Given the description of an element on the screen output the (x, y) to click on. 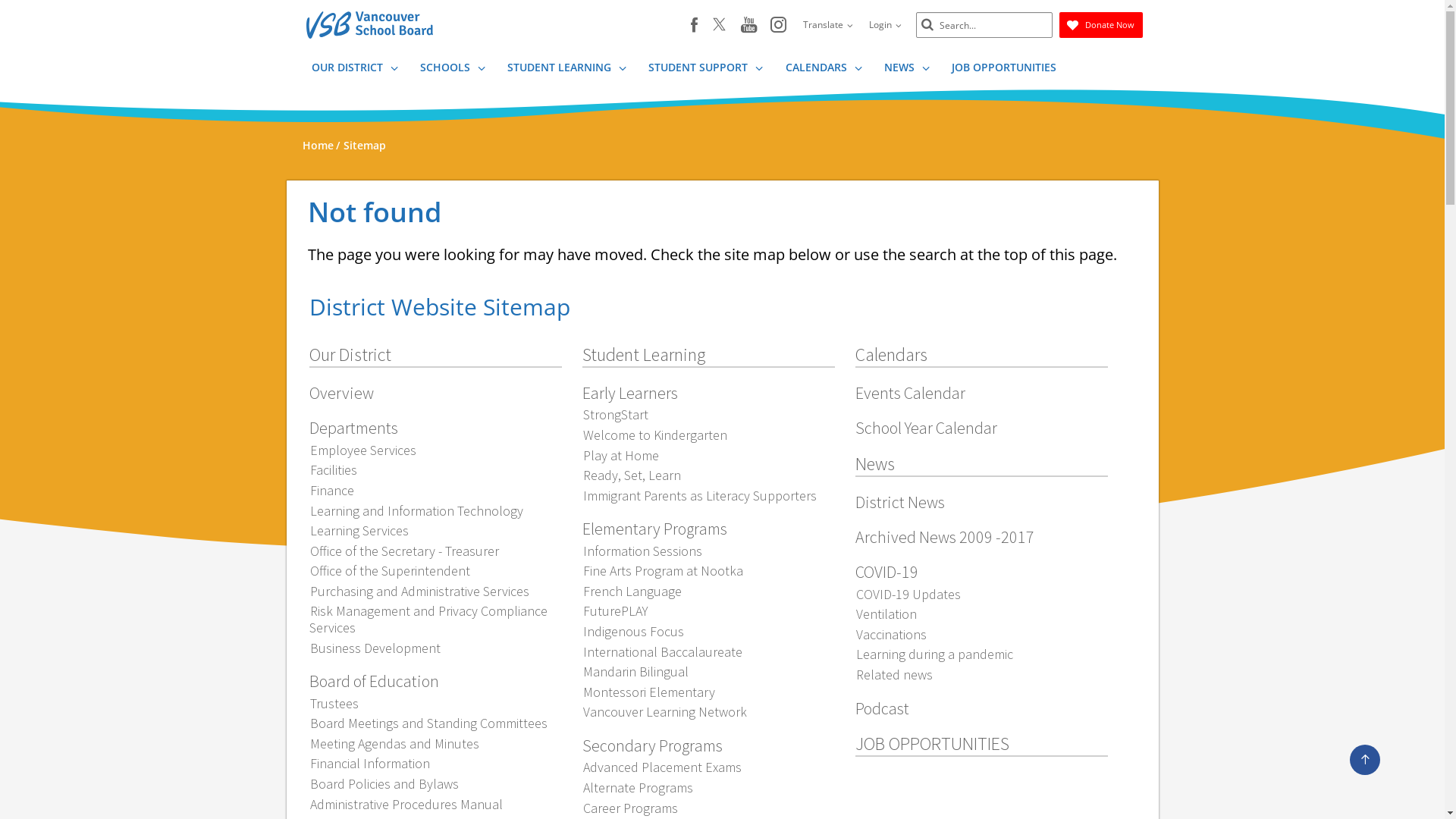
JOB OPPORTUNITIES Element type: text (932, 743)
Trustees Element type: text (333, 703)
Board Policies and Bylaws Element type: text (383, 783)
Vancouver Learning Network Element type: text (664, 711)
Business Development Element type: text (374, 647)
COVID-19 Updates Element type: text (907, 593)
Go to top Element type: text (1364, 759)
Fine Arts Program at Nootka Element type: text (662, 570)
District News Element type: text (899, 501)
Board Meetings and Standing Committees Element type: text (428, 722)
Meeting Agendas and Minutes Element type: text (394, 743)
StrongStart Element type: text (615, 414)
Montessori Elementary Element type: text (648, 691)
facebook Element type: text (693, 24)
Advanced Placement Exams Element type: text (661, 766)
Vaccinations Element type: text (890, 634)
Events Calendar Element type: text (910, 392)
Overview Element type: text (341, 392)
Financial Information Element type: text (369, 762)
Welcome to Kindergarten Element type: text (654, 434)
Finance Element type: text (331, 489)
Ready, Set, Learn Element type: text (631, 474)
Risk Management and Privacy Compliance Services Element type: text (428, 619)
Alternate Programs Element type: text (637, 787)
Administrative Procedures Manual Element type: text (405, 803)
Learning and Information Technology Element type: text (416, 510)
Student Learning Element type: text (643, 354)
OUR DISTRICT Element type: text (353, 69)
International Baccalaureate Element type: text (662, 651)
Learning Services Element type: text (358, 530)
Early Learners Element type: text (629, 392)
SCHOOLS Element type: text (451, 69)
Our District Element type: text (350, 354)
Donate Now Element type: text (1100, 24)
Translate Element type: text (827, 24)
JOB OPPORTUNITIES Element type: text (1003, 69)
instagram Element type: text (778, 25)
Employee Services Element type: text (362, 449)
Ventilation Element type: text (885, 613)
Office of the Superintendent Element type: text (389, 570)
Podcast Element type: text (882, 707)
Indigenous Focus Element type: text (633, 631)
News Element type: text (874, 463)
COVID-19 Element type: text (886, 571)
Submit Element type: text (926, 24)
Facilities Element type: text (333, 469)
Career Programs Element type: text (629, 807)
Related news Element type: text (893, 674)
NEWS Element type: text (905, 69)
Secondary Programs Element type: text (652, 745)
Office of the Secretary - Treasurer Element type: text (403, 550)
French Language Element type: text (631, 590)
Play at Home Element type: text (620, 455)
CALENDARS Element type: text (823, 69)
Immigrant Parents as Literacy Supporters Element type: text (699, 495)
youtube Element type: text (748, 25)
STUDENT SUPPORT Element type: text (704, 69)
Board of Education Element type: text (374, 680)
FuturePLAY Element type: text (615, 610)
Departments Element type: text (353, 427)
Login Element type: text (884, 24)
Mandarin Bilingual Element type: text (635, 671)
Home Element type: text (316, 145)
Learning during a pandemic Element type: text (934, 653)
Archived News 2009 -2017 Element type: text (944, 536)
School Year Calendar Element type: text (926, 427)
Calendars Element type: text (891, 354)
Purchasing and Administrative Services Element type: text (419, 590)
Elementary Programs Element type: text (654, 528)
STUDENT LEARNING Element type: text (565, 69)
Information Sessions Element type: text (642, 550)
